Given the description of an element on the screen output the (x, y) to click on. 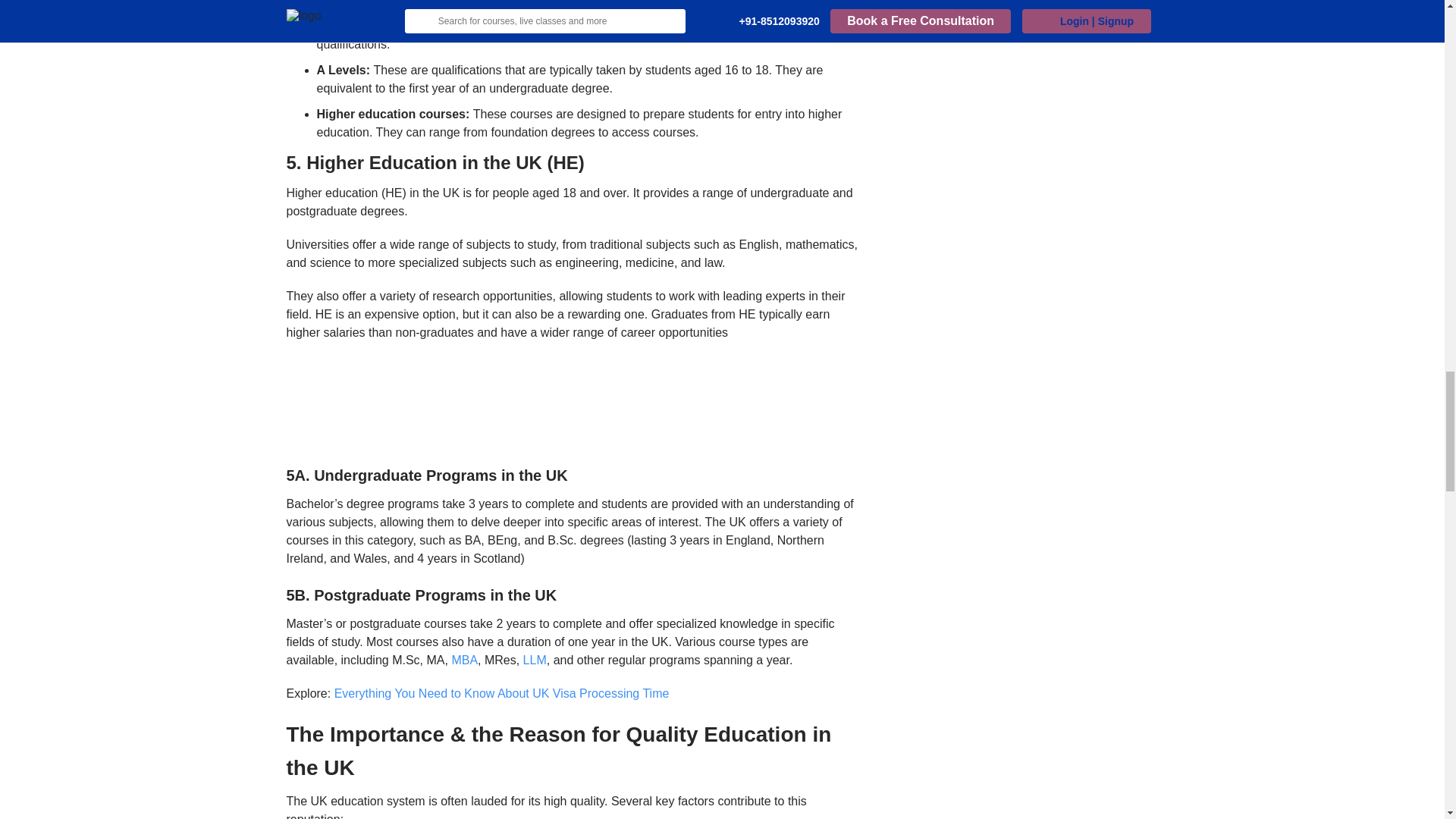
MBA (464, 659)
Everything You Need to Know About UK Visa Processing Time (501, 693)
LLM (534, 659)
